Given the description of an element on the screen output the (x, y) to click on. 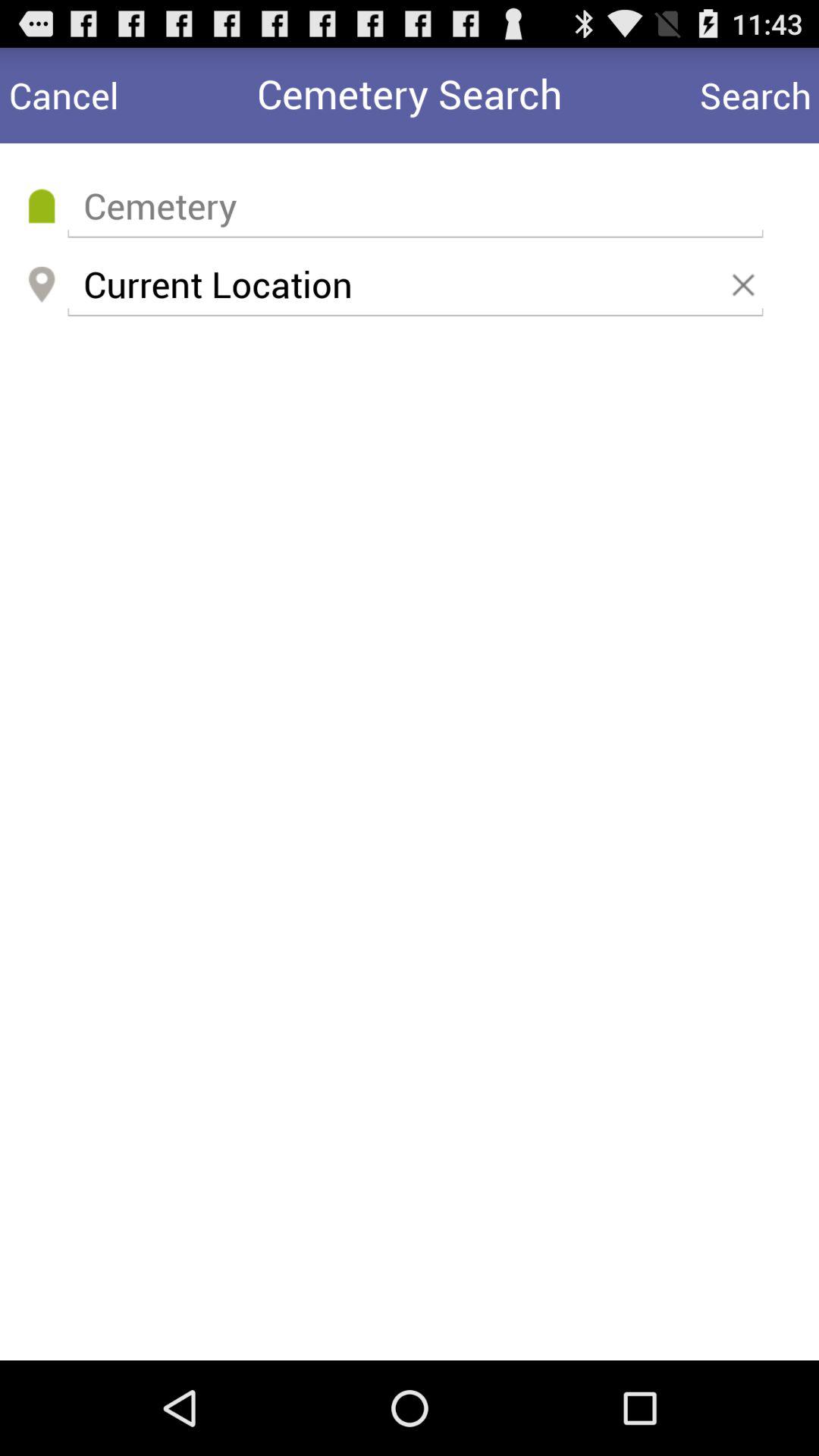
select icon next to the cemetery search app (63, 95)
